Given the description of an element on the screen output the (x, y) to click on. 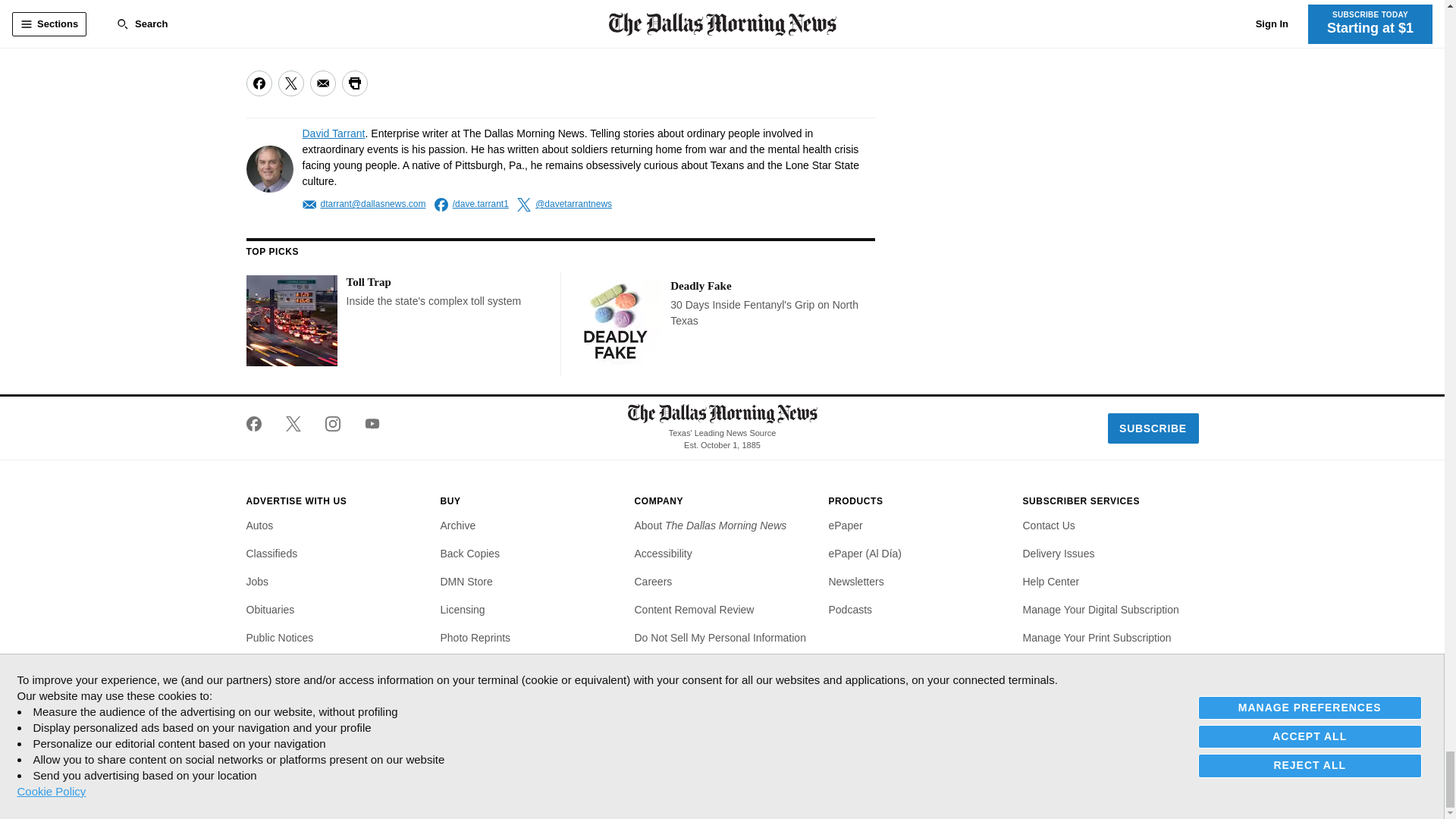
The Dallas Morning News on Facebook (259, 423)
Print (353, 83)
Share on Facebook (258, 83)
Share via Email (321, 83)
Share on Twitter (290, 83)
